Given the description of an element on the screen output the (x, y) to click on. 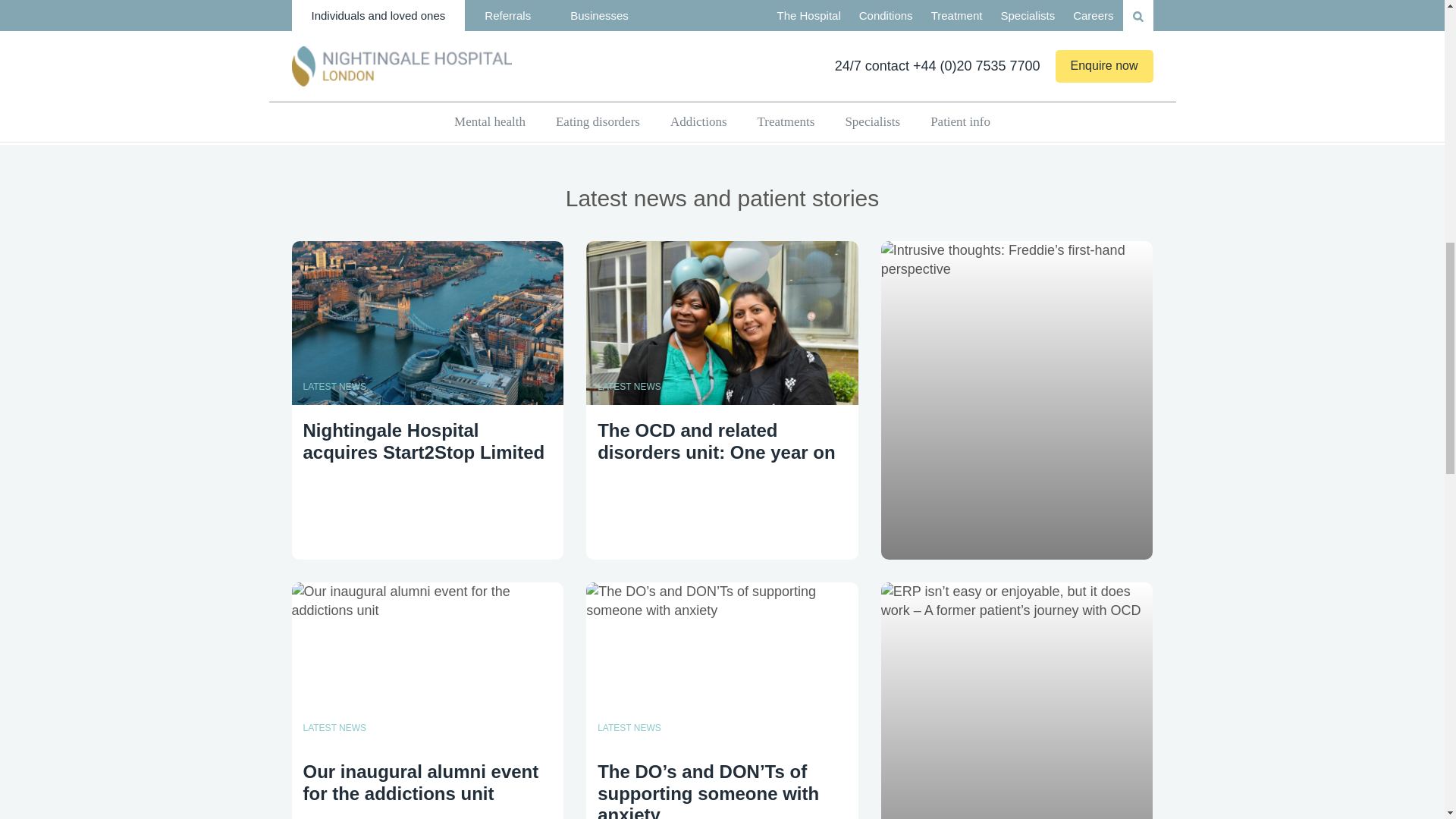
Nightingale Hospital acquires Start2Stop Limited (427, 363)
The OCD and related disorders unit: One year on (722, 363)
Our inaugural alumni event for the addictions unit (427, 700)
